Given the description of an element on the screen output the (x, y) to click on. 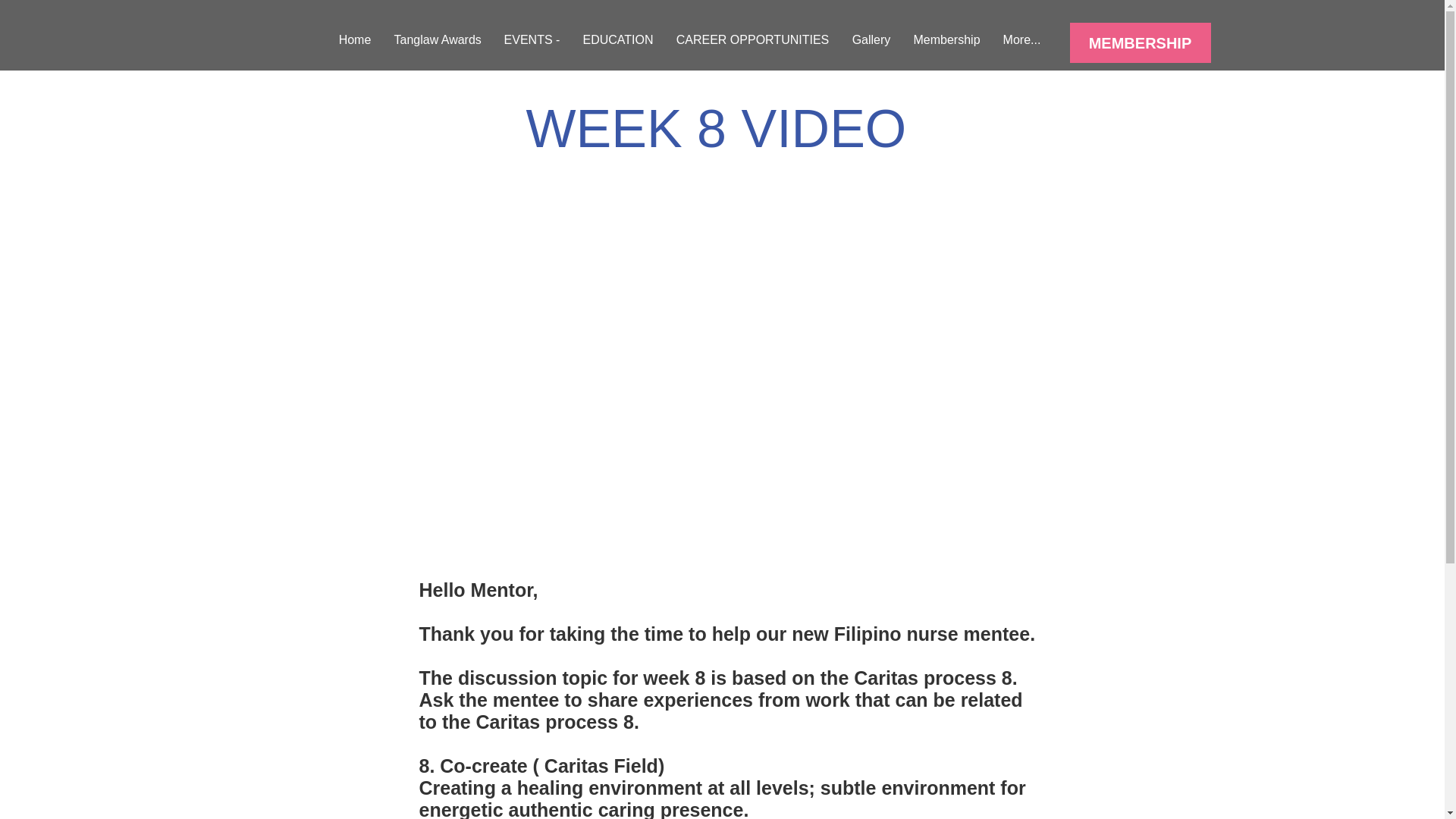
MEMBERSHIP (1138, 42)
Gallery (870, 39)
Tanglaw Awards (436, 39)
Membership (946, 39)
Home (354, 39)
CAREER OPPORTUNITIES (751, 39)
